Given the description of an element on the screen output the (x, y) to click on. 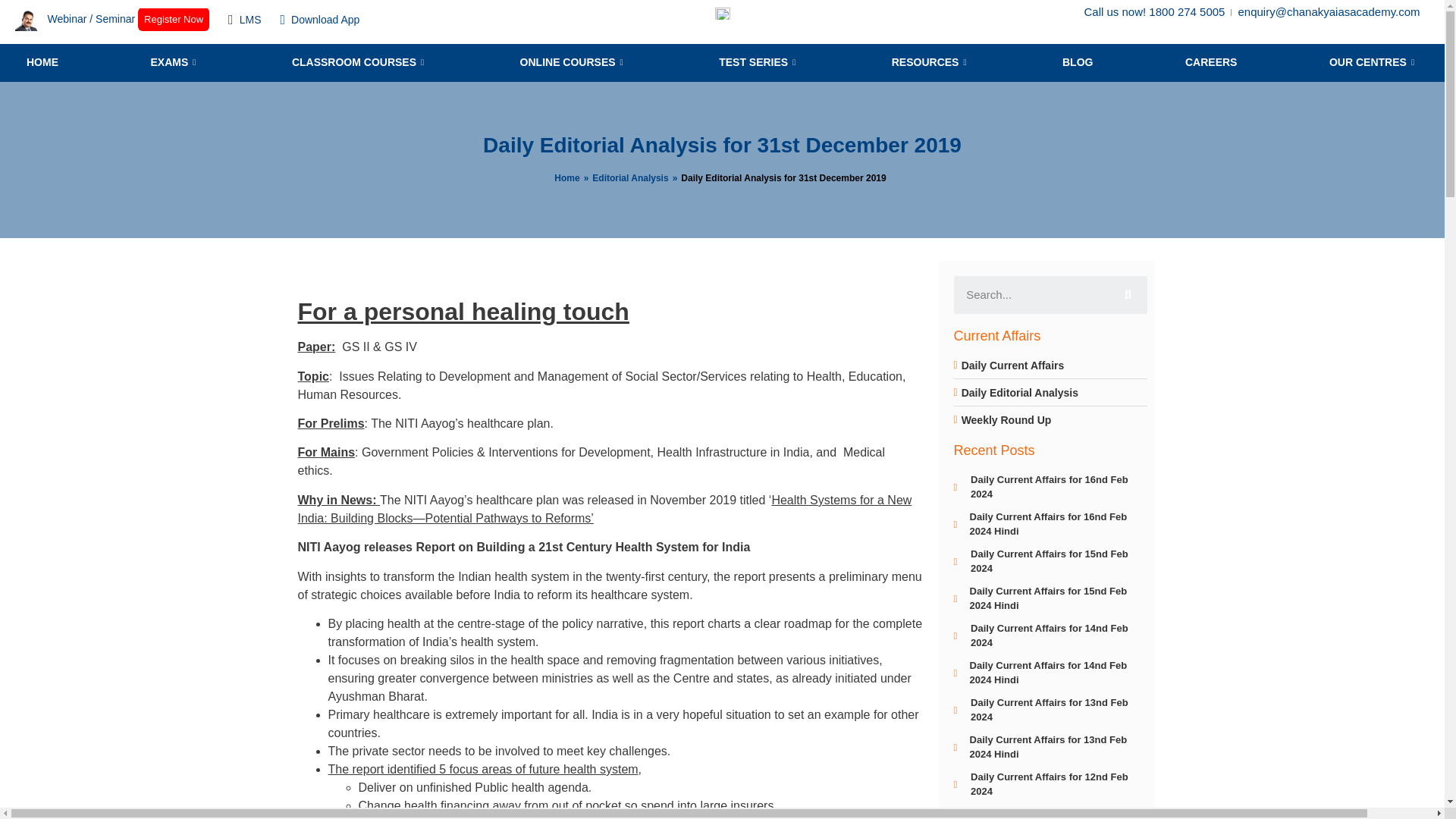
CLASSROOM COURSES (359, 62)
ONLINE COURSES (573, 62)
Search (1031, 294)
Search (1127, 294)
LMS (244, 19)
HOME (42, 62)
BLOG (1077, 62)
RESOURCES (931, 62)
Call us now! 1800 274 5005 (1153, 12)
TEST SERIES (758, 62)
